Given the description of an element on the screen output the (x, y) to click on. 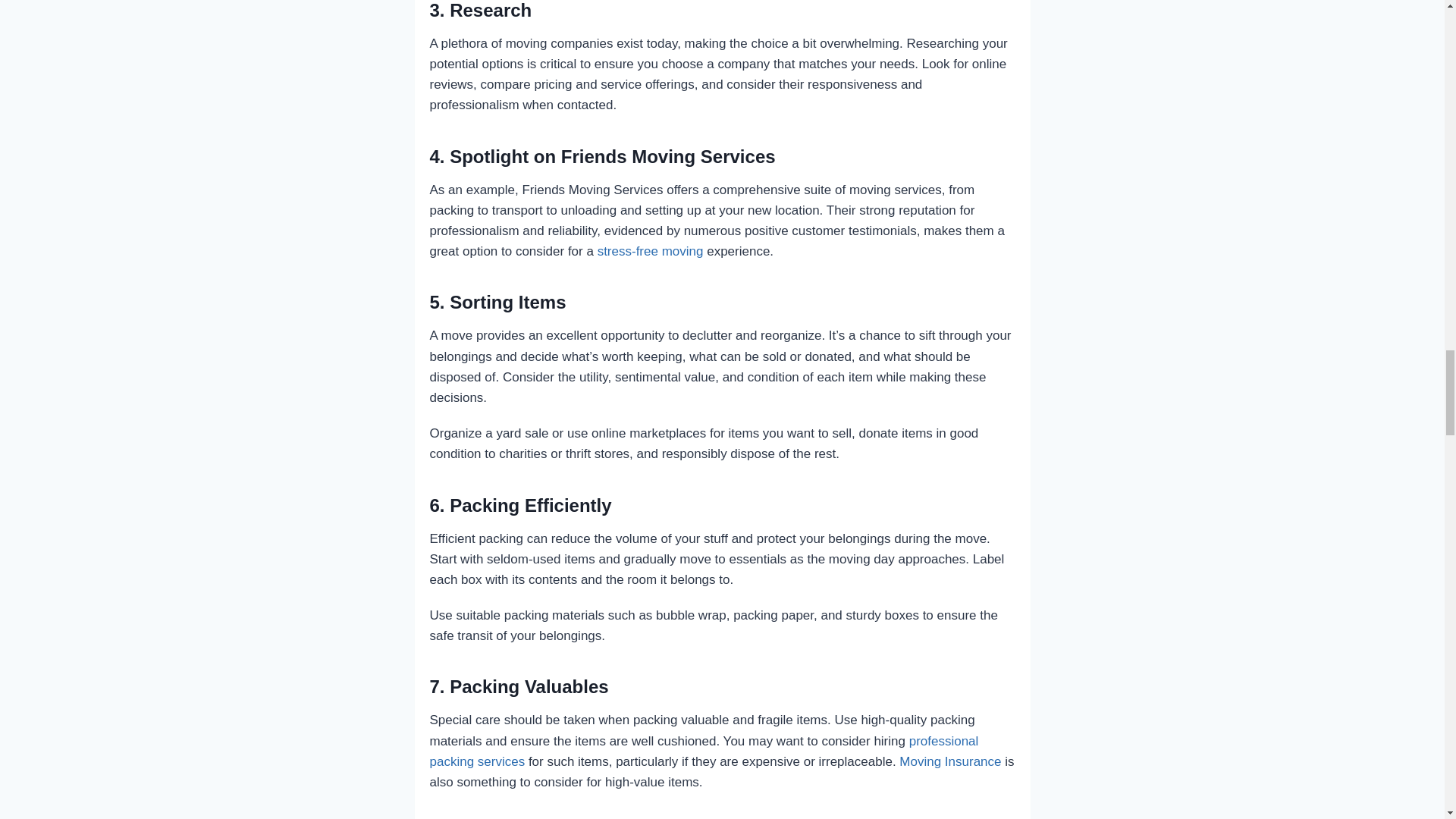
Moving Insurance (950, 761)
stress-free moving (649, 251)
professional packing services (703, 751)
